Given the description of an element on the screen output the (x, y) to click on. 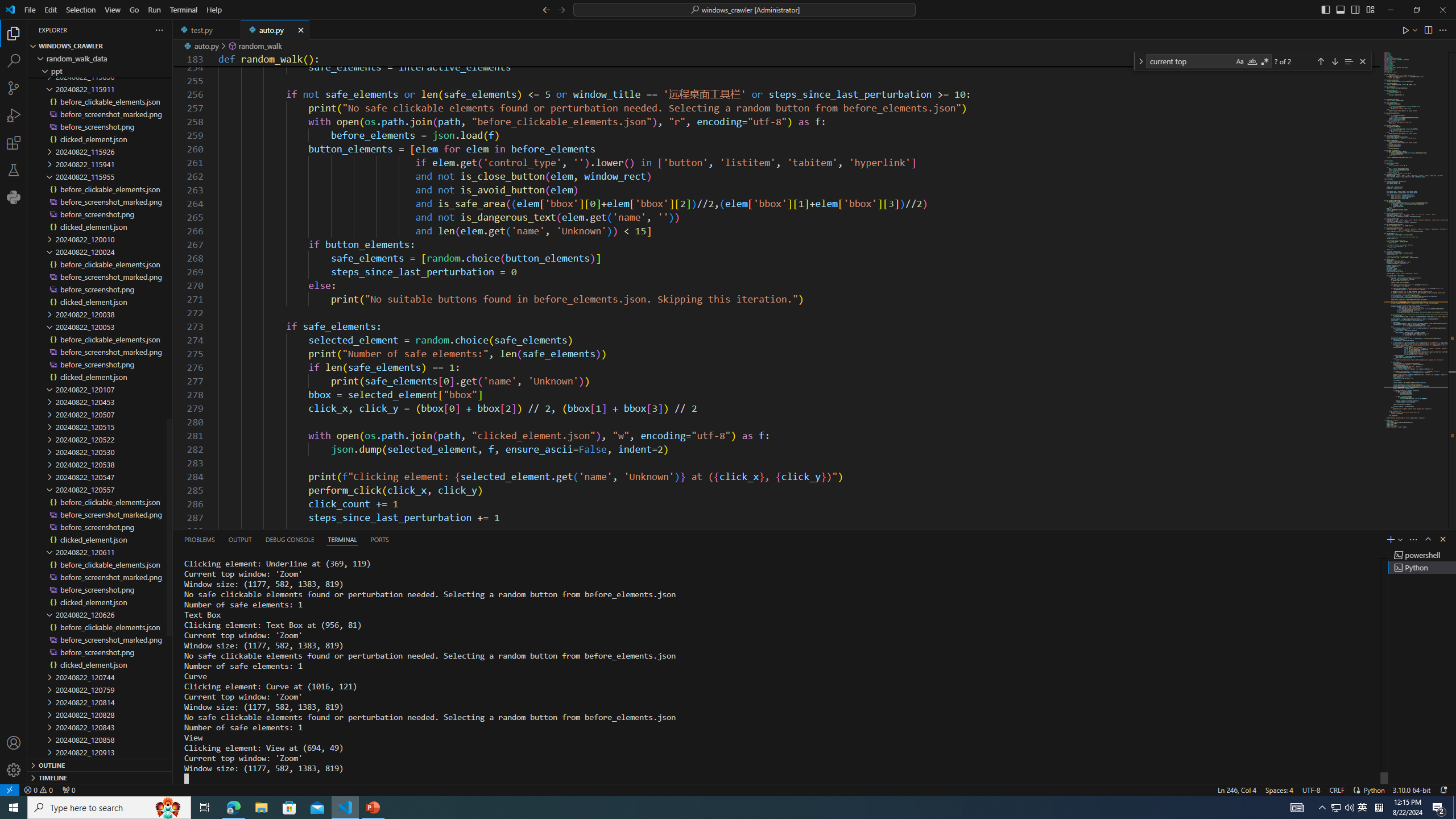
Terminal (183, 9)
Explorer actions (118, 29)
Outline Section (99, 764)
Match Whole Word (Alt+W) (1251, 61)
More Actions... (1442, 29)
No Problems (37, 789)
No Ports Forwarded (68, 789)
Toggle Secondary Side Bar (Ctrl+Alt+B) (1355, 9)
Views and More Actions... (1412, 539)
Find (1190, 60)
auto.py (274, 29)
Editor actions (1425, 29)
